Given the description of an element on the screen output the (x, y) to click on. 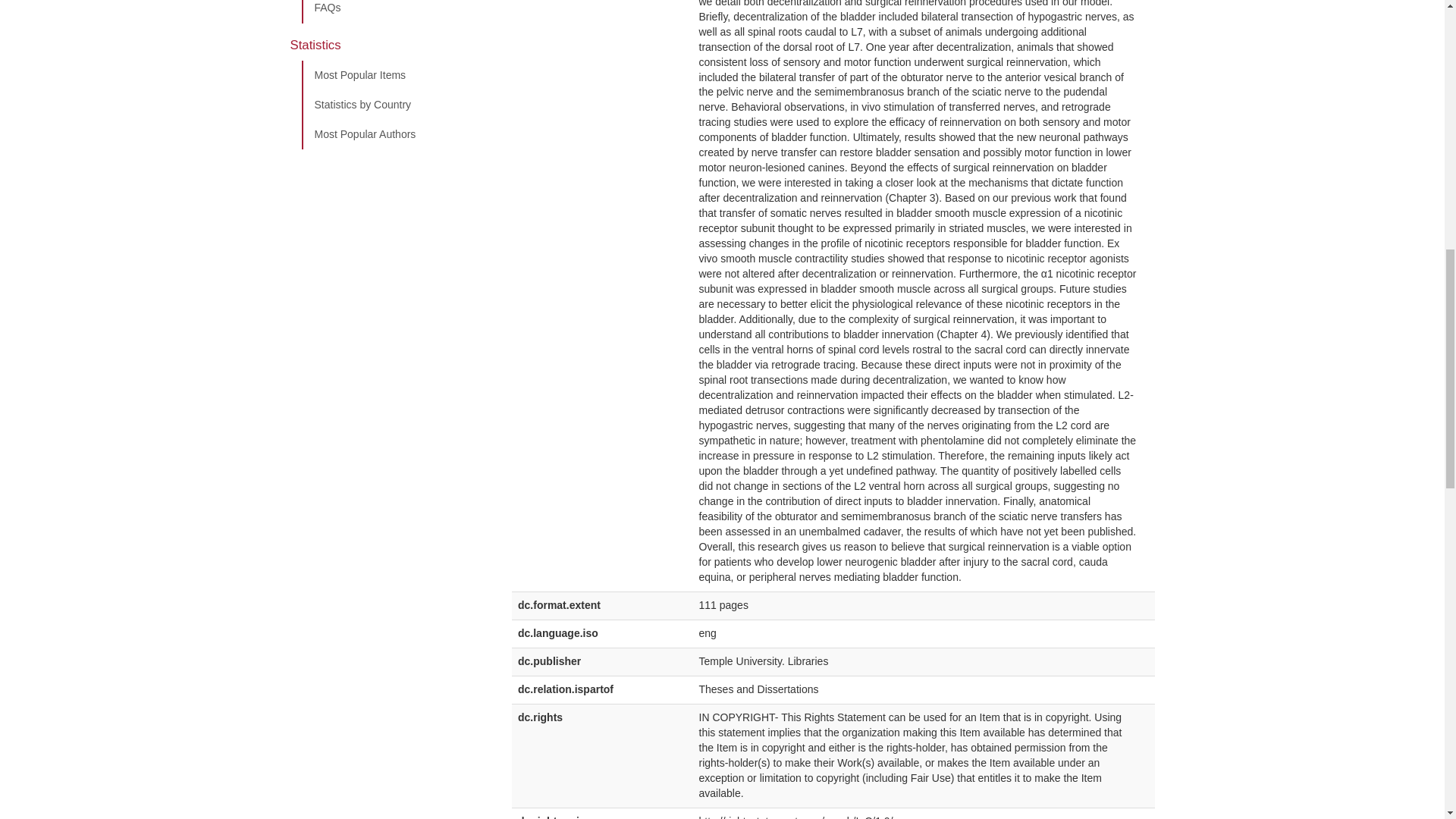
FAQs (395, 11)
Most Popular Items (395, 75)
Most Popular Authors (395, 134)
Statistics by Country (395, 105)
